Given the description of an element on the screen output the (x, y) to click on. 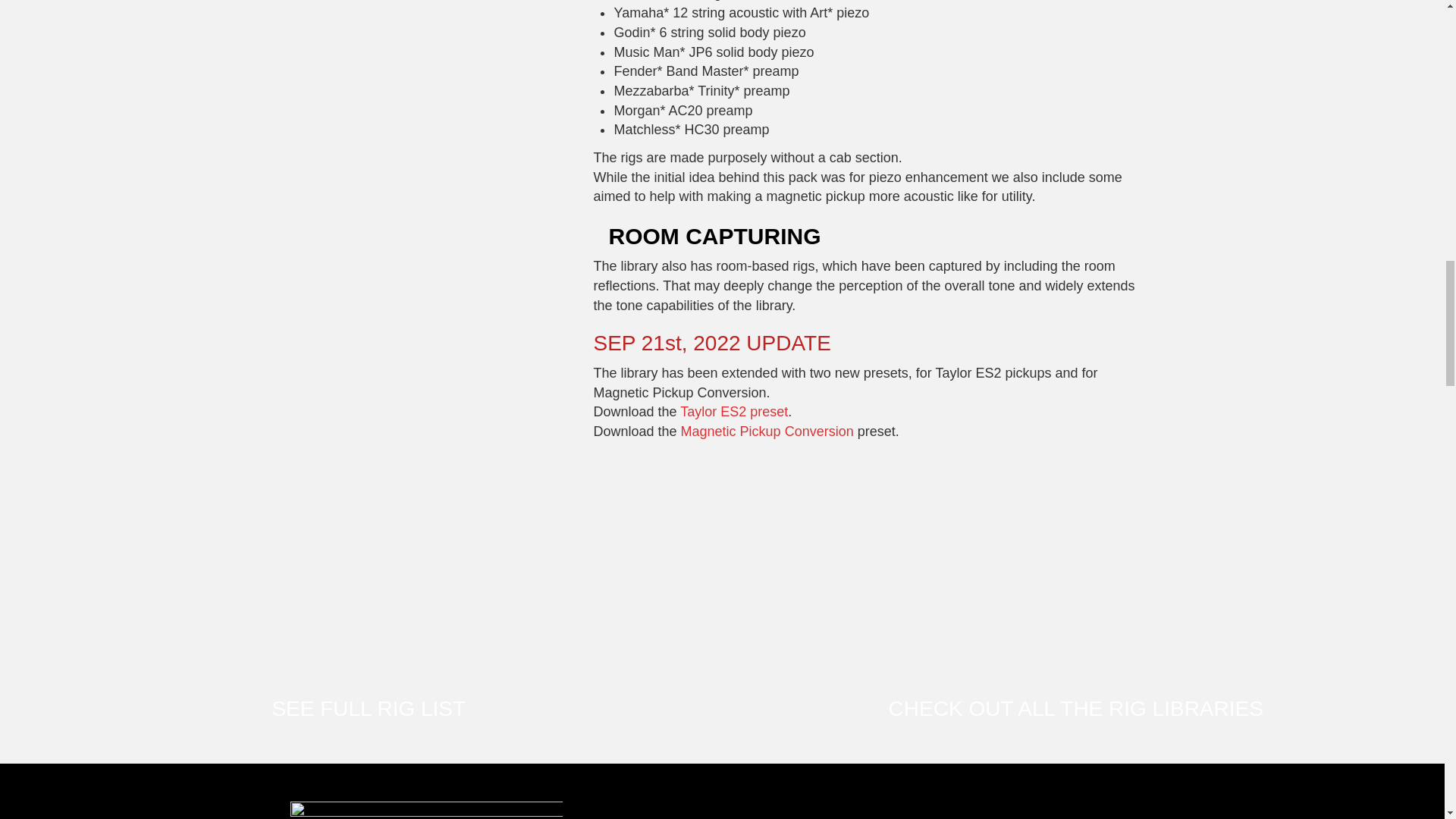
Taylor ES2 preset (733, 411)
SEE FULL RIG LIST (367, 708)
Magnetic Pickup Conversion (767, 431)
CHECK OUT ALL THE RIG LIBRARIES (1075, 708)
